Given the description of an element on the screen output the (x, y) to click on. 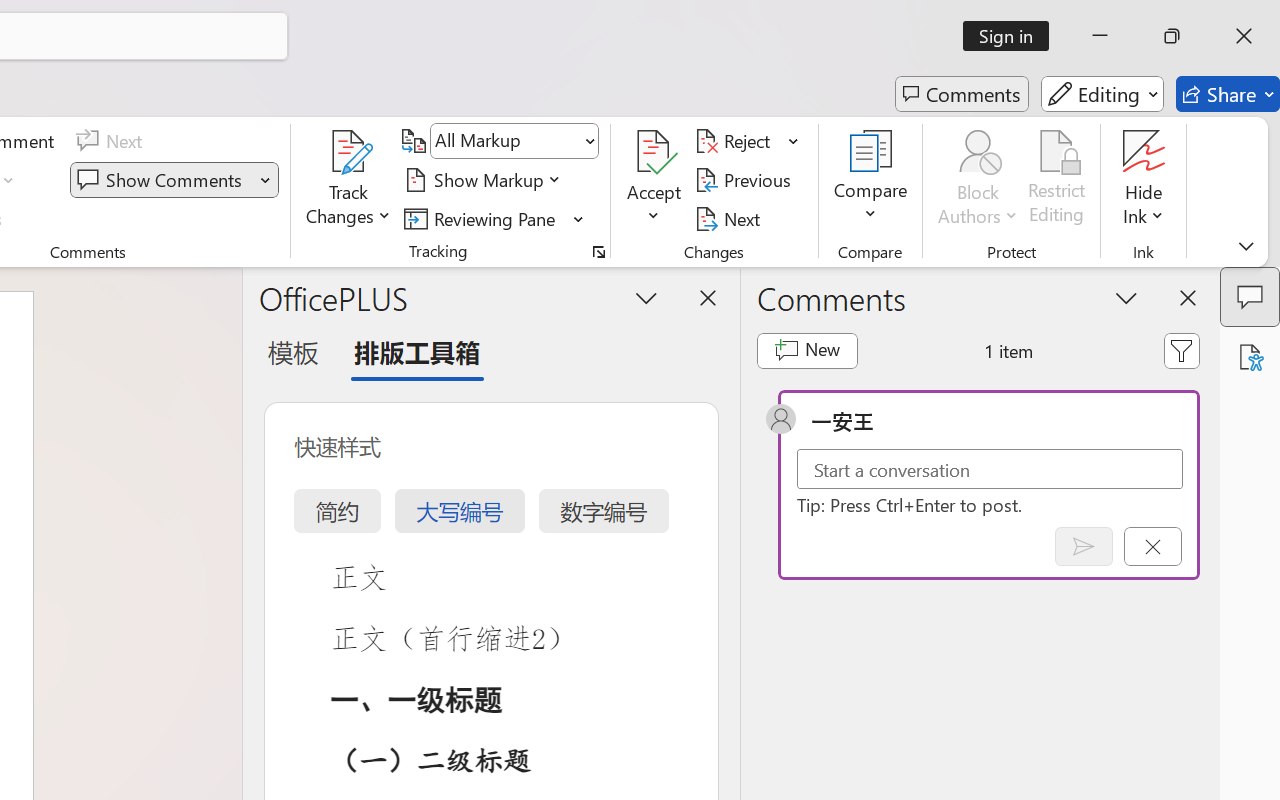
Show Comments (174, 179)
Show Markup (485, 179)
Compare (870, 179)
Start a conversation (990, 468)
Reviewing Pane (483, 218)
Filter (1181, 350)
Cancel (1152, 546)
Show Comments (162, 179)
